Given the description of an element on the screen output the (x, y) to click on. 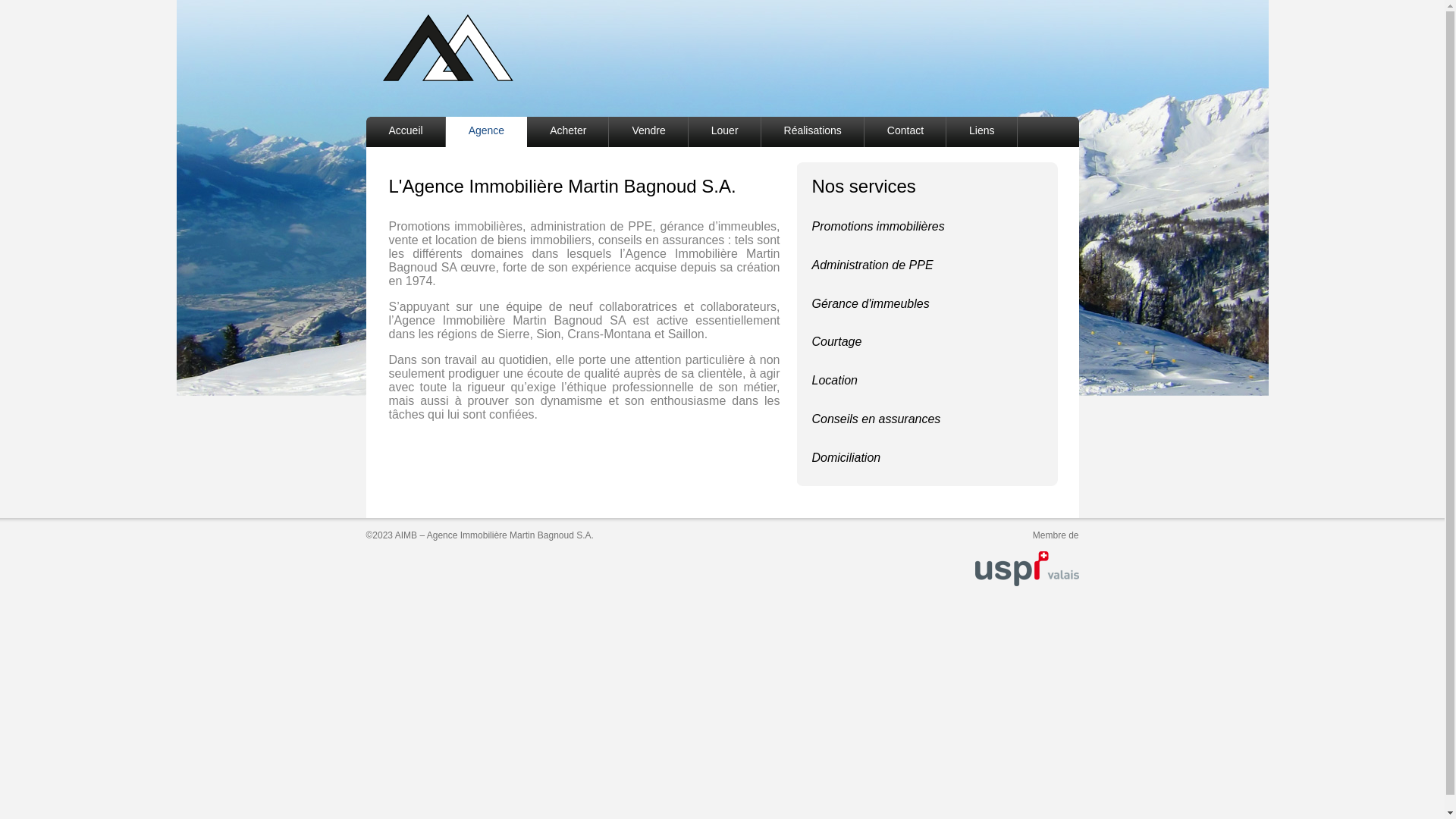
Liens Element type: text (981, 131)
Vendre Element type: text (647, 131)
Contact Element type: text (905, 131)
Agence Element type: text (486, 131)
Accueil Element type: text (405, 131)
Louer Element type: text (724, 131)
Acheter Element type: text (567, 131)
